Given the description of an element on the screen output the (x, y) to click on. 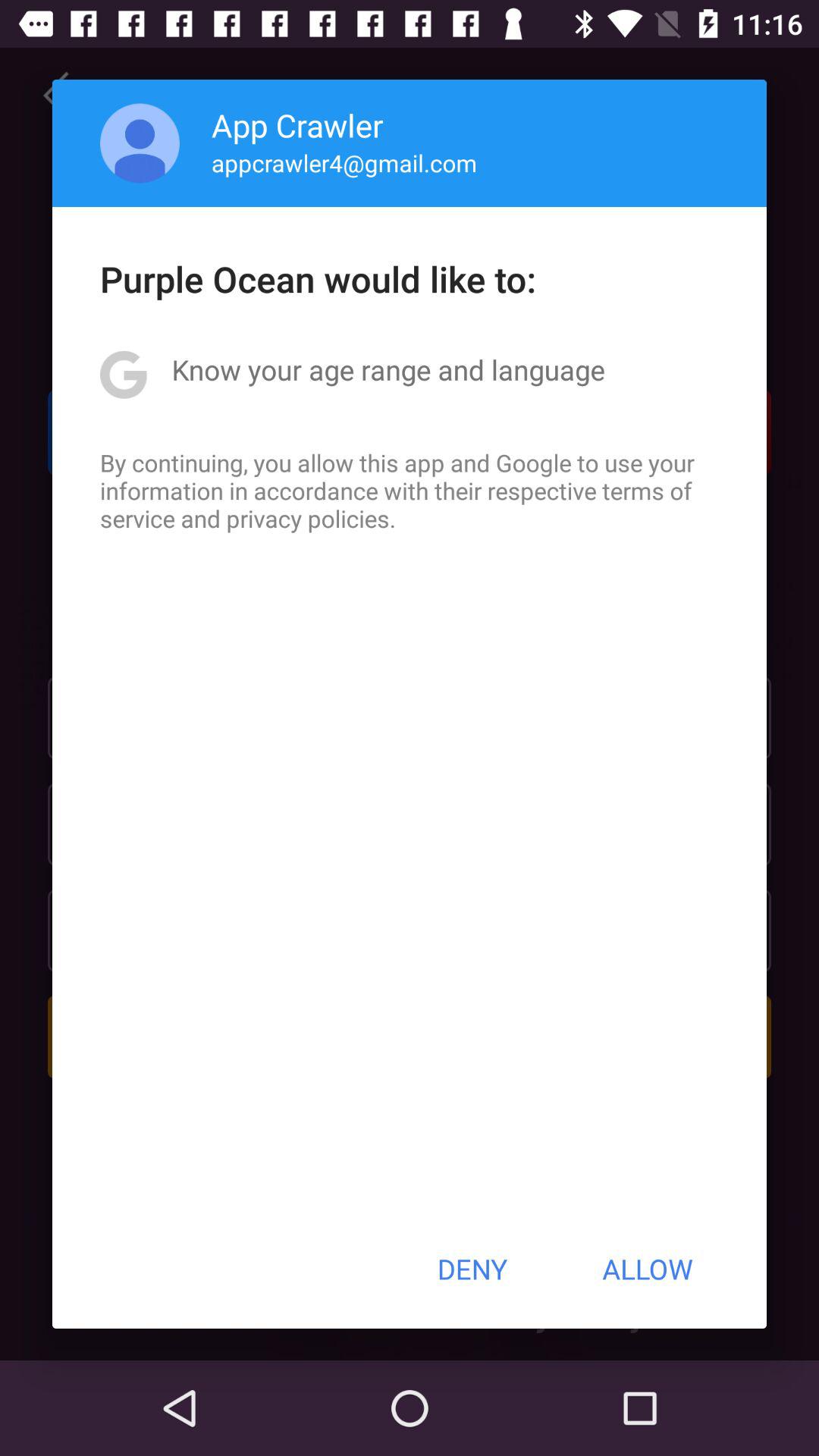
press app above the by continuing you icon (388, 369)
